Given the description of an element on the screen output the (x, y) to click on. 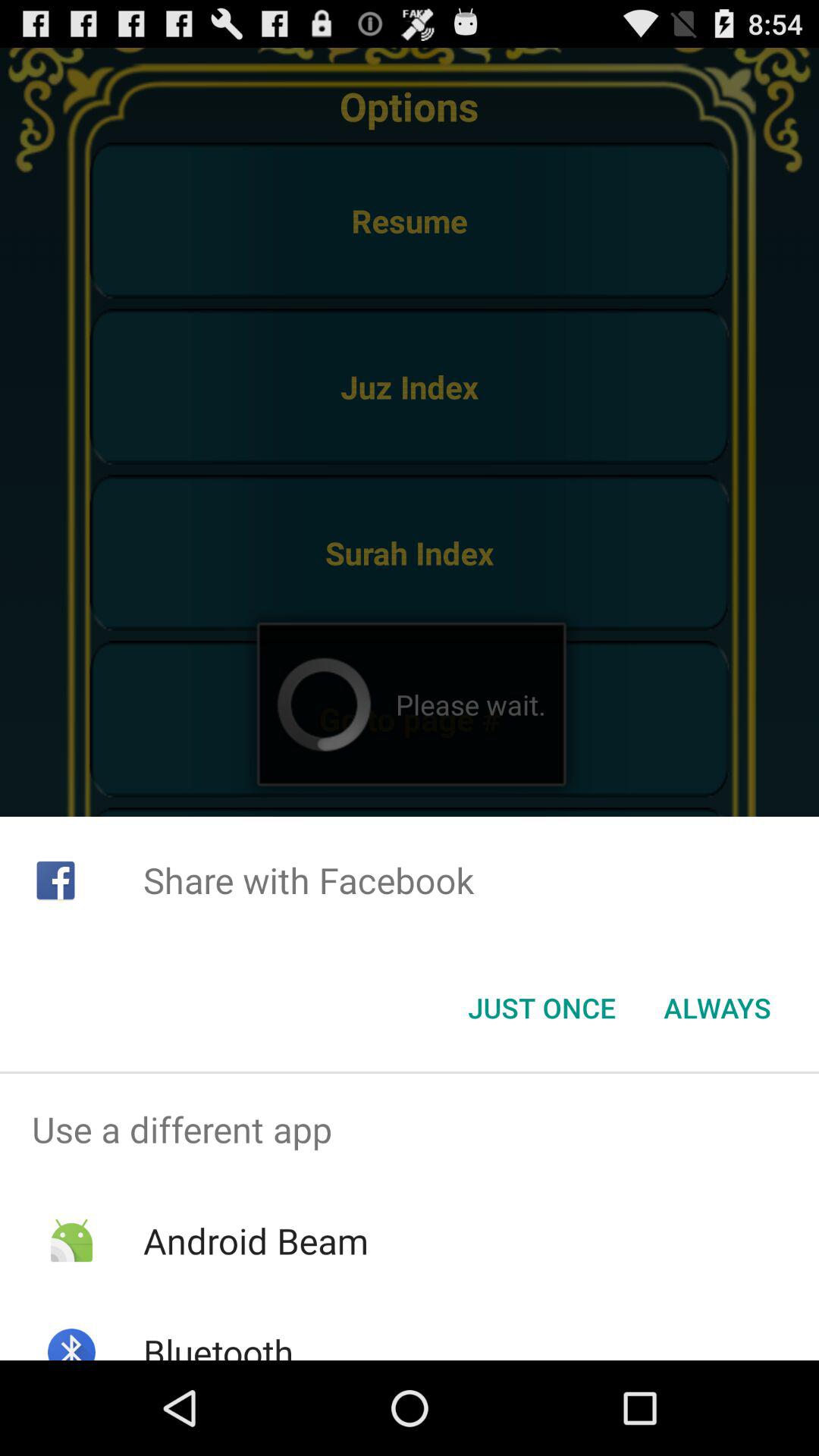
choose the item above android beam item (409, 1129)
